Given the description of an element on the screen output the (x, y) to click on. 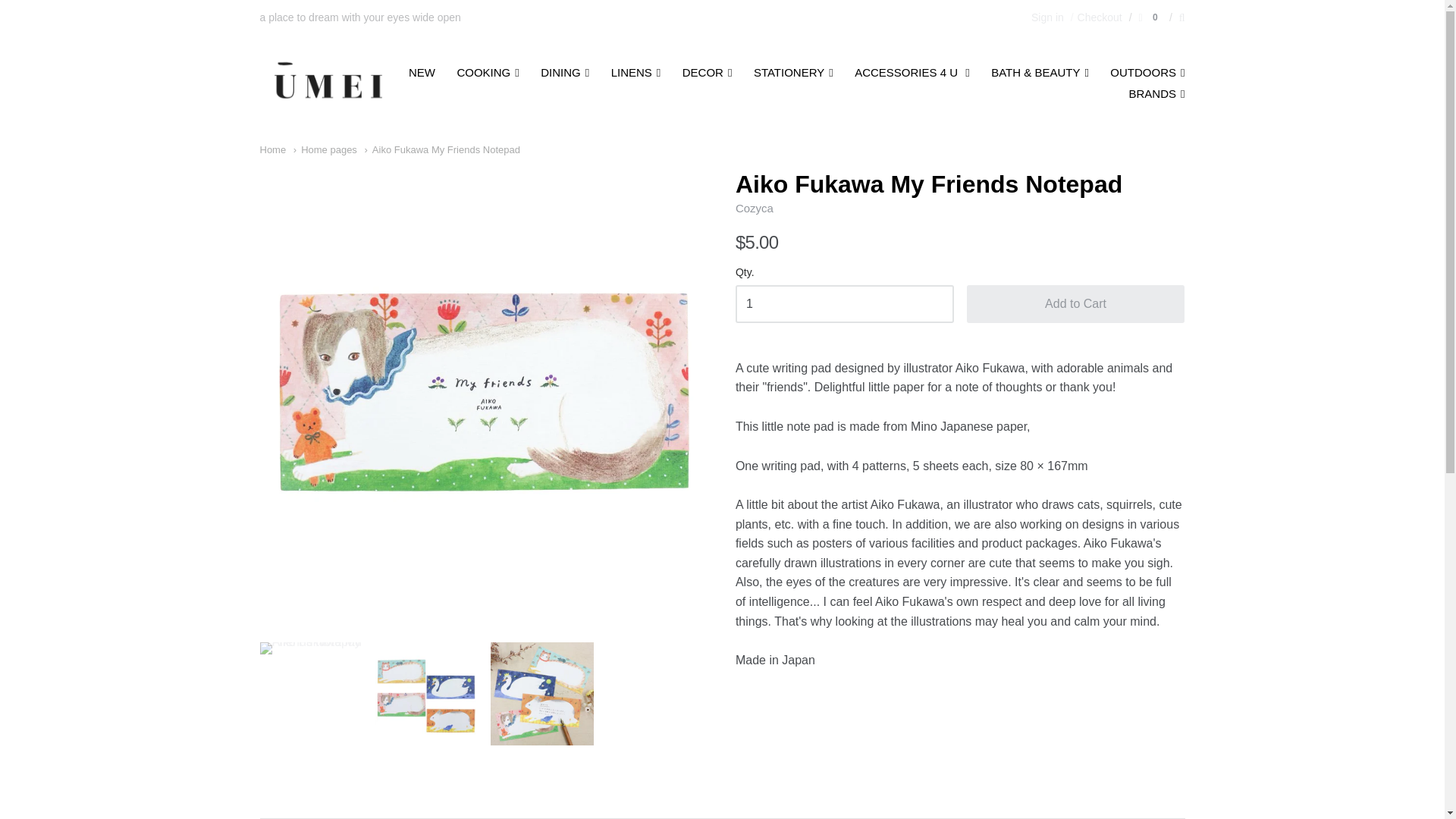
COOKING (486, 72)
0 (1149, 17)
LINENS (635, 72)
Sign in (1047, 17)
NEW (421, 72)
Aiko Fukawa My Friends Notepad (441, 149)
DINING (564, 72)
Home pages (325, 149)
Cozyca (754, 207)
1 (844, 303)
Home (272, 149)
Checkout (1094, 17)
DECOR (706, 72)
